Given the description of an element on the screen output the (x, y) to click on. 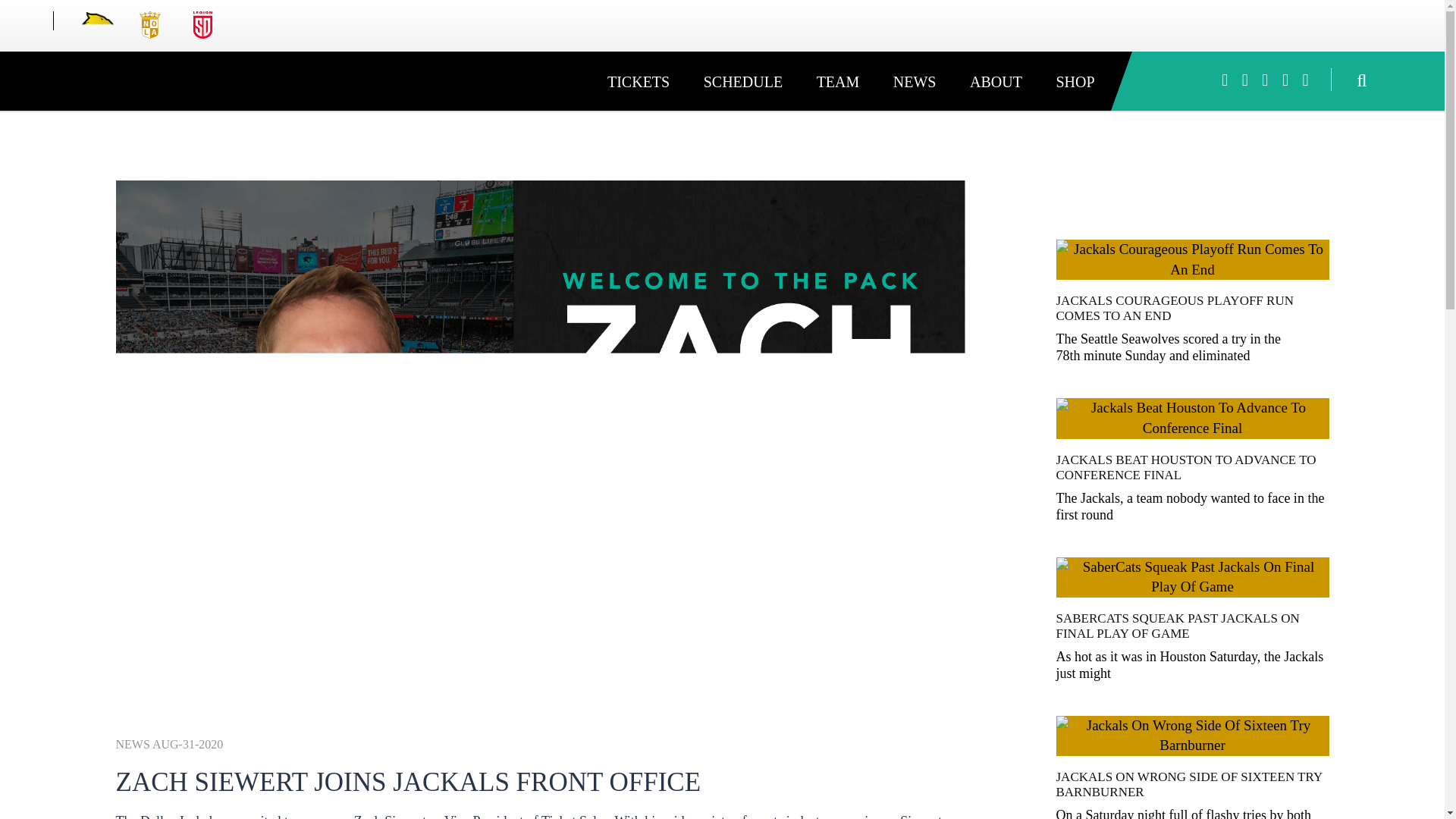
ABOUT (995, 81)
NEWS (914, 81)
TICKETS (638, 81)
SCHEDULE (742, 81)
TEAM (838, 81)
SHOP (1075, 81)
